Given the description of an element on the screen output the (x, y) to click on. 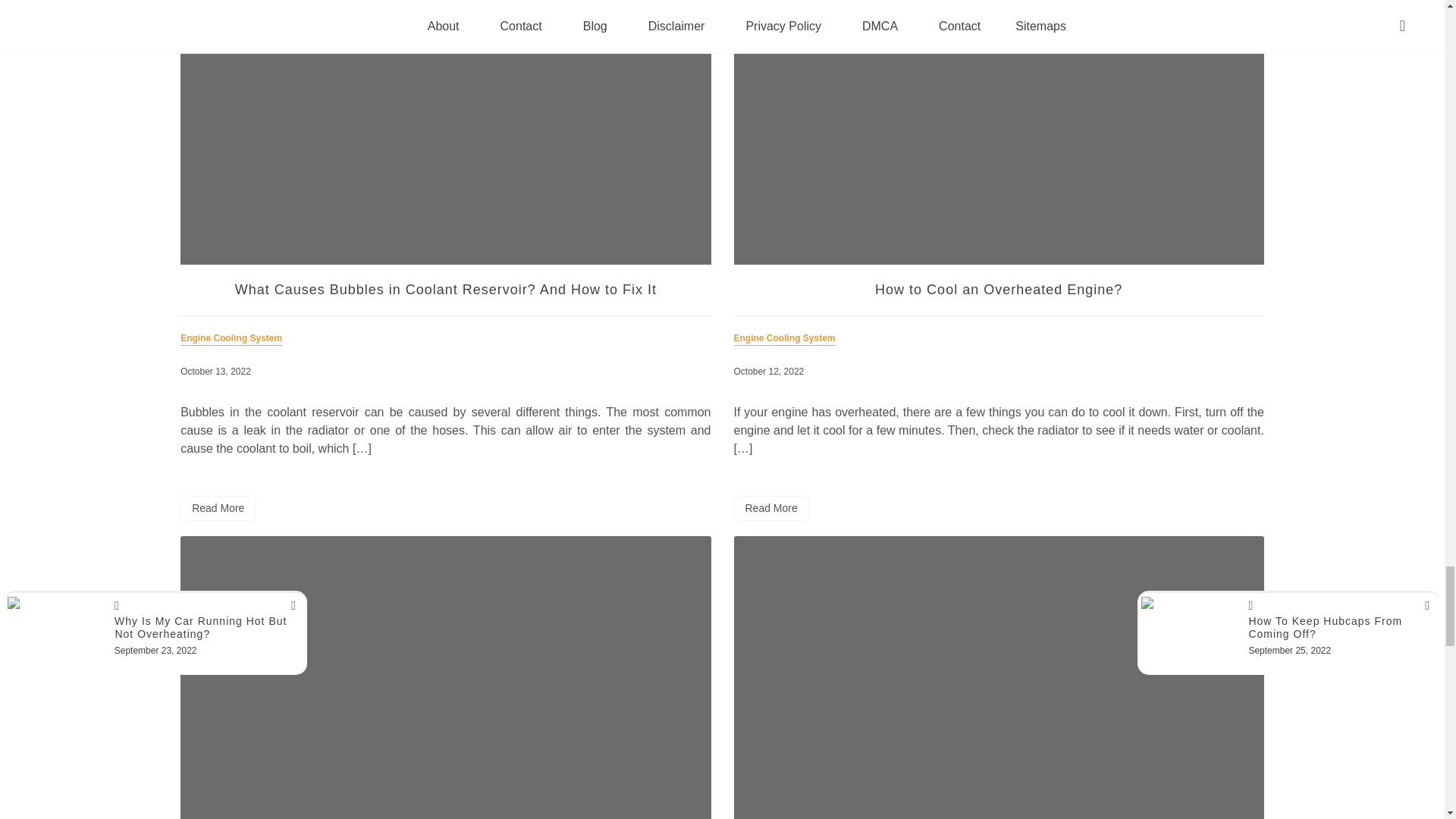
Read More (218, 508)
What Causes Bubbles in Coolant Reservoir? And How to Fix It (445, 289)
Engine Cooling System (234, 346)
Engine Cooling System (787, 346)
How to Cool an Overheated Engine? (998, 289)
October 13, 2022 (215, 371)
